Given the description of an element on the screen output the (x, y) to click on. 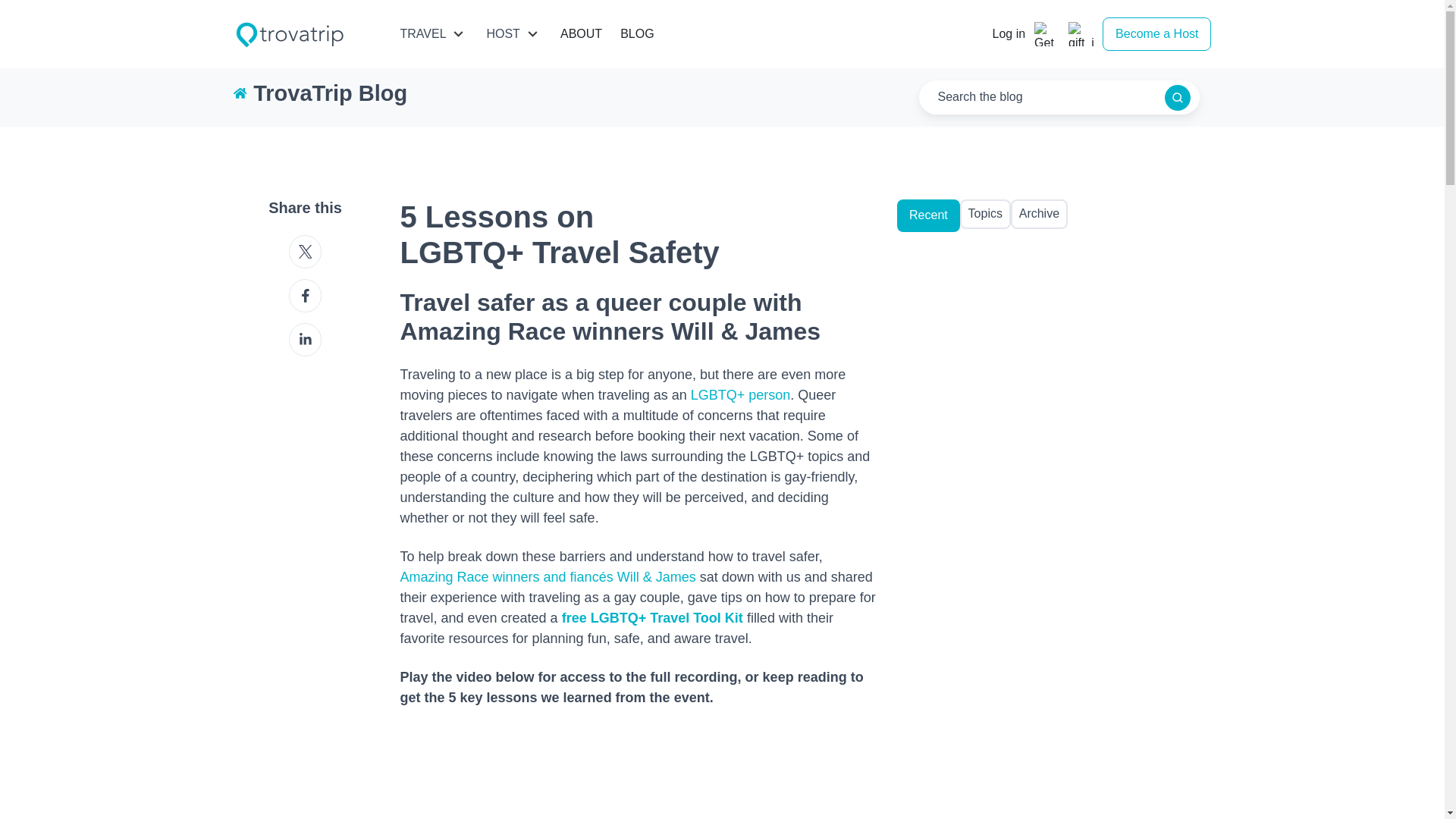
Get Help (1046, 33)
Share on LinkedIn (304, 339)
Share on Facebook (304, 295)
Search the blog (1177, 97)
Become a Host (1156, 34)
BLOG (636, 33)
Log in (1008, 34)
TrovaTrip Logo (289, 34)
ABOUT (581, 33)
Share on X (304, 251)
